Given the description of an element on the screen output the (x, y) to click on. 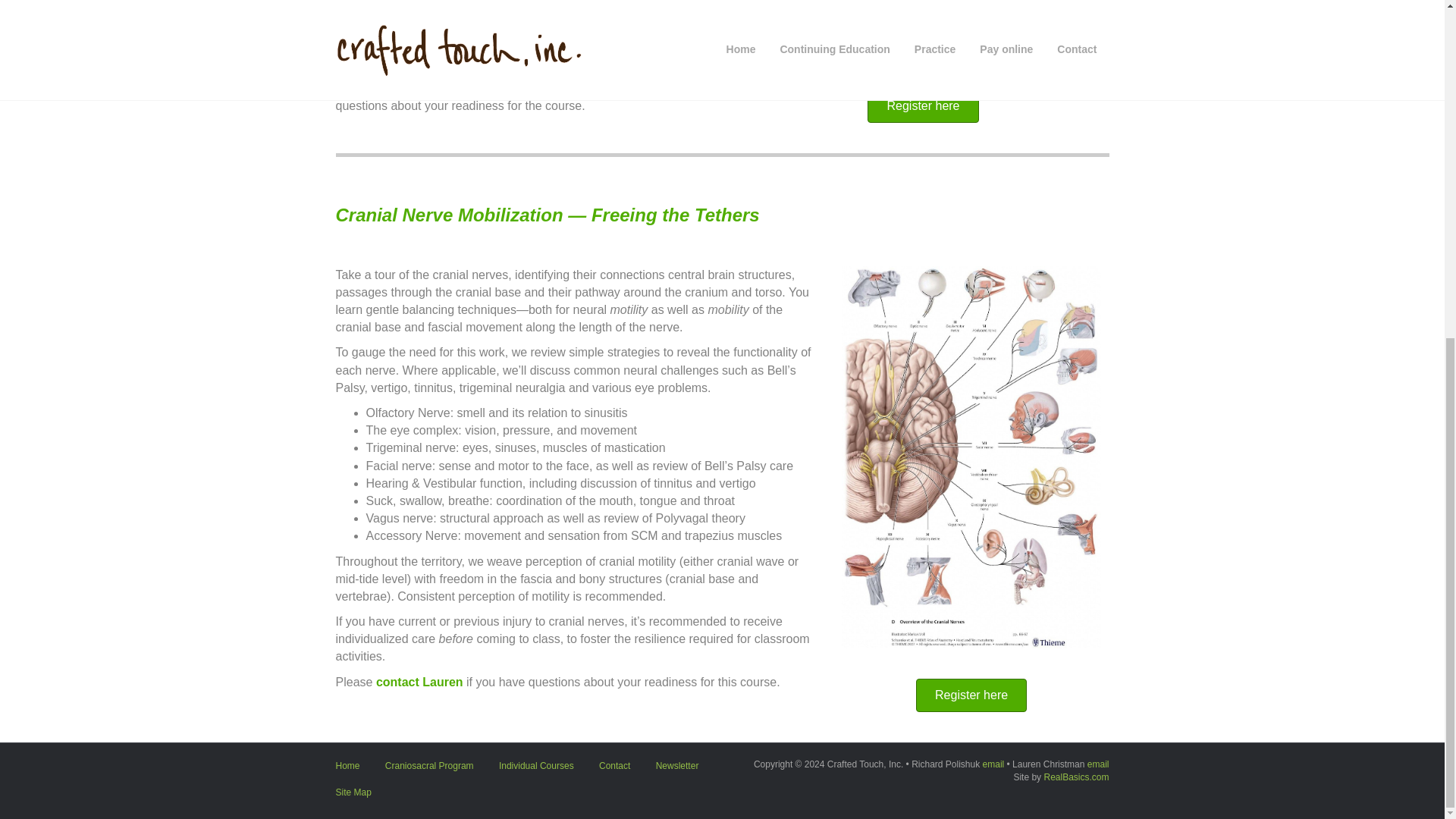
Register here (922, 105)
email (993, 764)
contact Lauren (419, 681)
Newsletter (677, 771)
contact Lauren (561, 87)
Register here (970, 694)
Site Map (353, 797)
Contact (615, 771)
email (1098, 764)
brain of hands (922, 29)
